Given the description of an element on the screen output the (x, y) to click on. 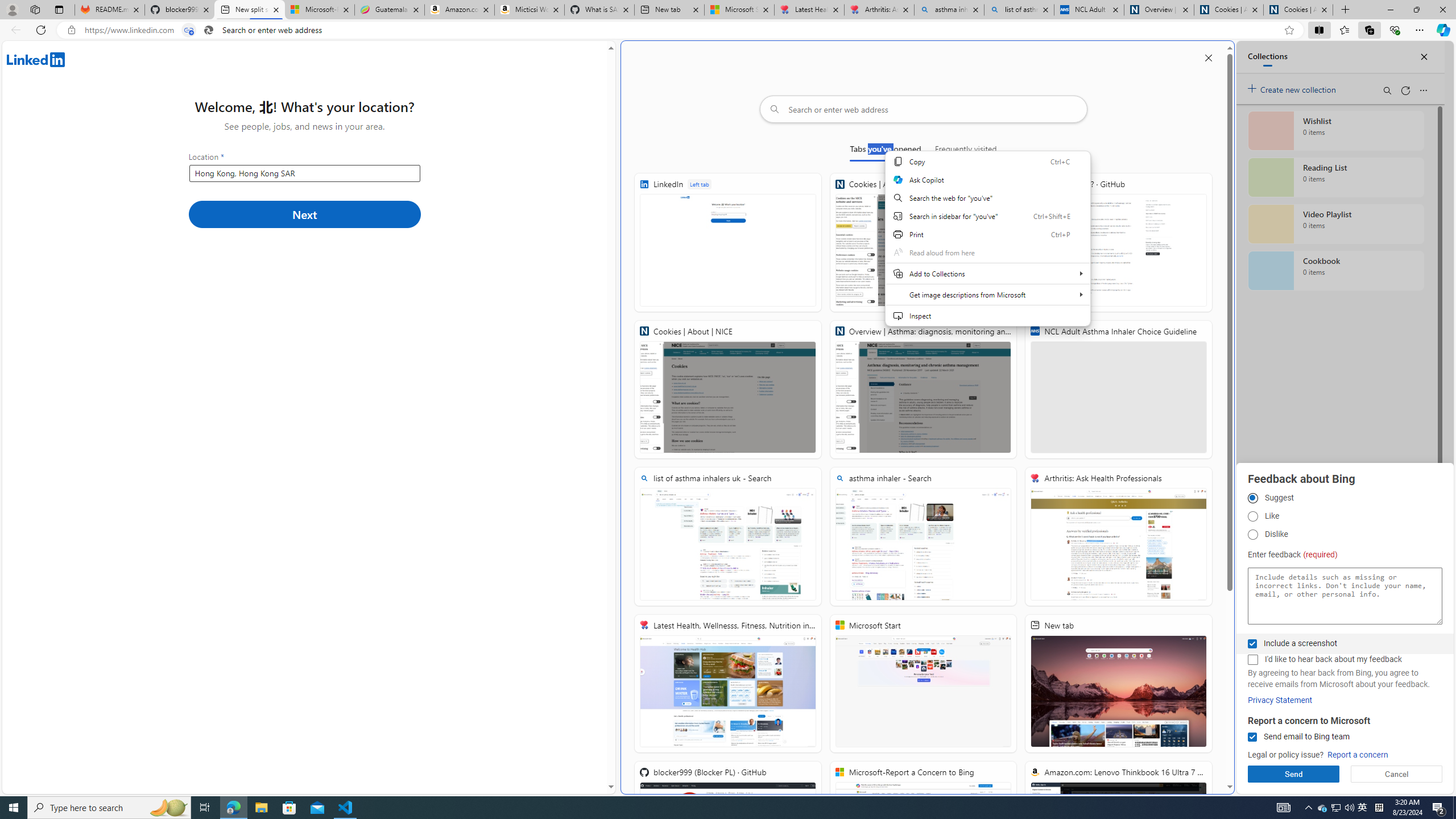
Close split screen (1208, 57)
Cookies | About | NICE (1297, 9)
Search the web for "you've" (987, 198)
Send email to Bing team (1251, 737)
Inspect (987, 315)
Web context (987, 238)
New split screen (249, 9)
